Given the description of an element on the screen output the (x, y) to click on. 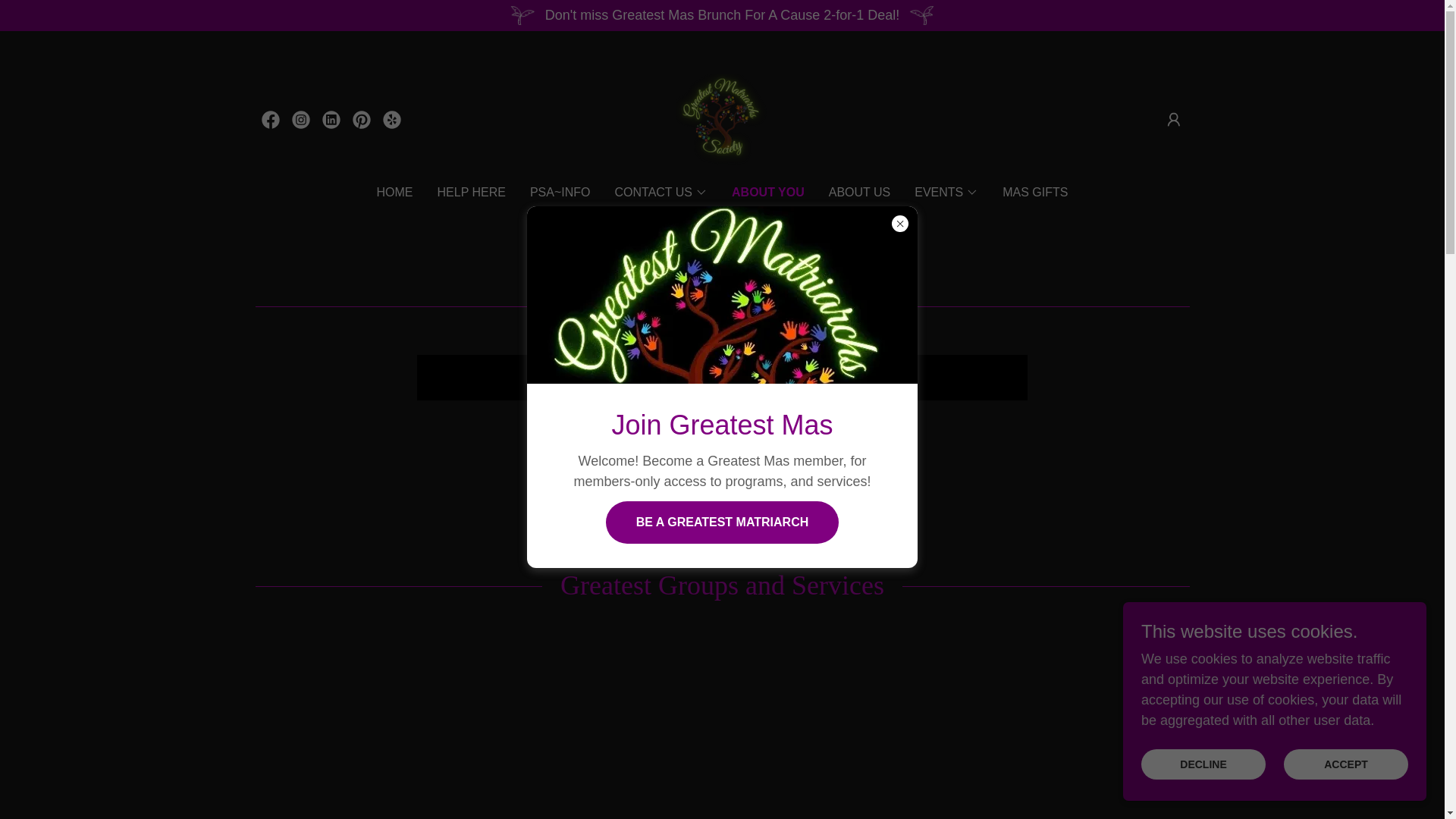
HELP HERE (470, 192)
HOME (393, 192)
CONTACT US (660, 192)
ABOUT US (859, 192)
ABOUT YOU (768, 192)
EVENTS (946, 192)
MAS GIFTS (1034, 192)
Greatest Matriarchs Society (722, 118)
